Given the description of an element on the screen output the (x, y) to click on. 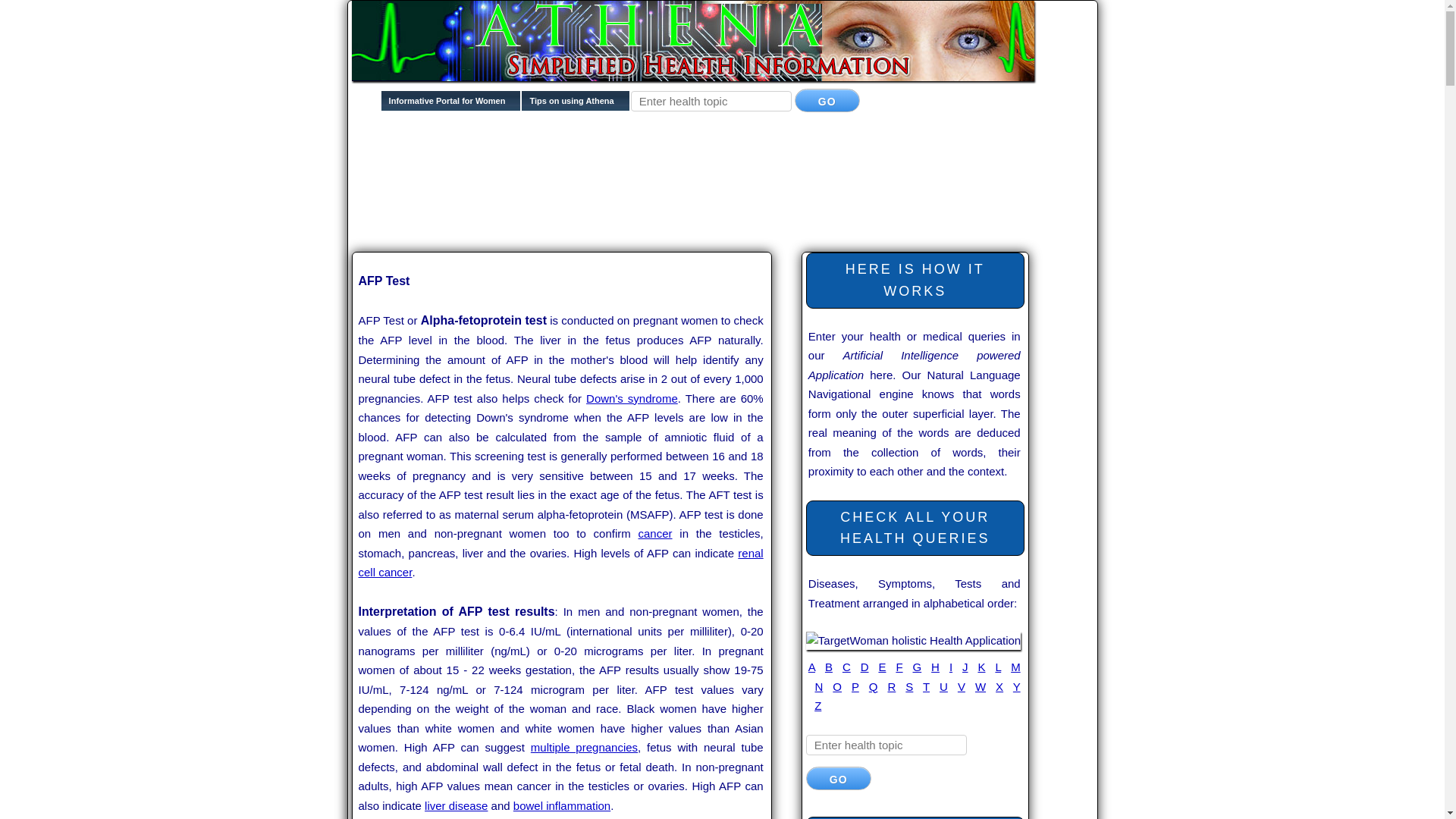
Informative Portal for Women (451, 104)
liver disease (456, 805)
Information Portal for Women - Targetwoman (451, 104)
cancer (655, 533)
Advertisement (628, 175)
Go (827, 100)
bowel inflammation (561, 805)
Tips on using TargetWoman Condensed Health Information Tool (574, 104)
renal cell cancer (560, 563)
Down's syndrome (632, 398)
Go (827, 100)
Go (838, 778)
Tips on using Athena (574, 104)
multiple pregnancies (584, 747)
Advertisement (628, 222)
